Given the description of an element on the screen output the (x, y) to click on. 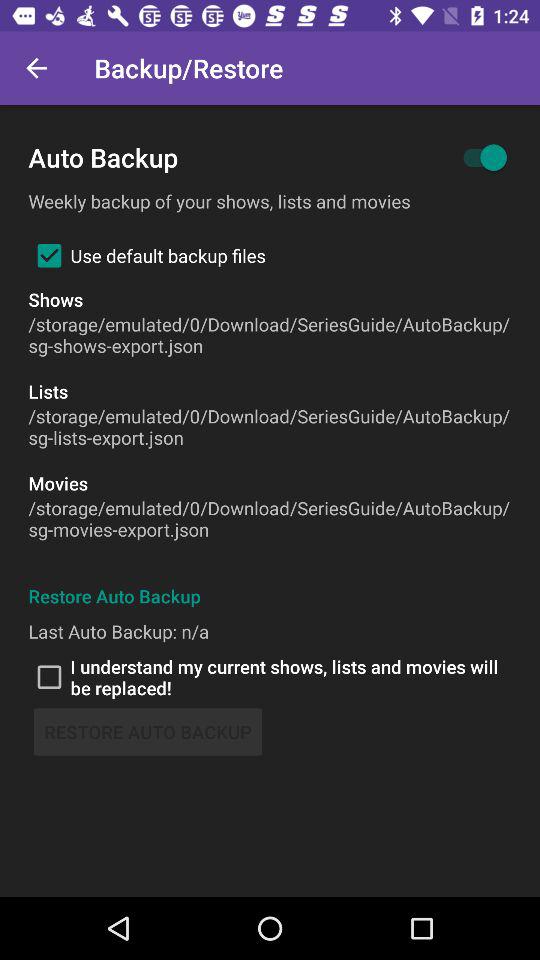
select icon next to backup/restore item (36, 68)
